Given the description of an element on the screen output the (x, y) to click on. 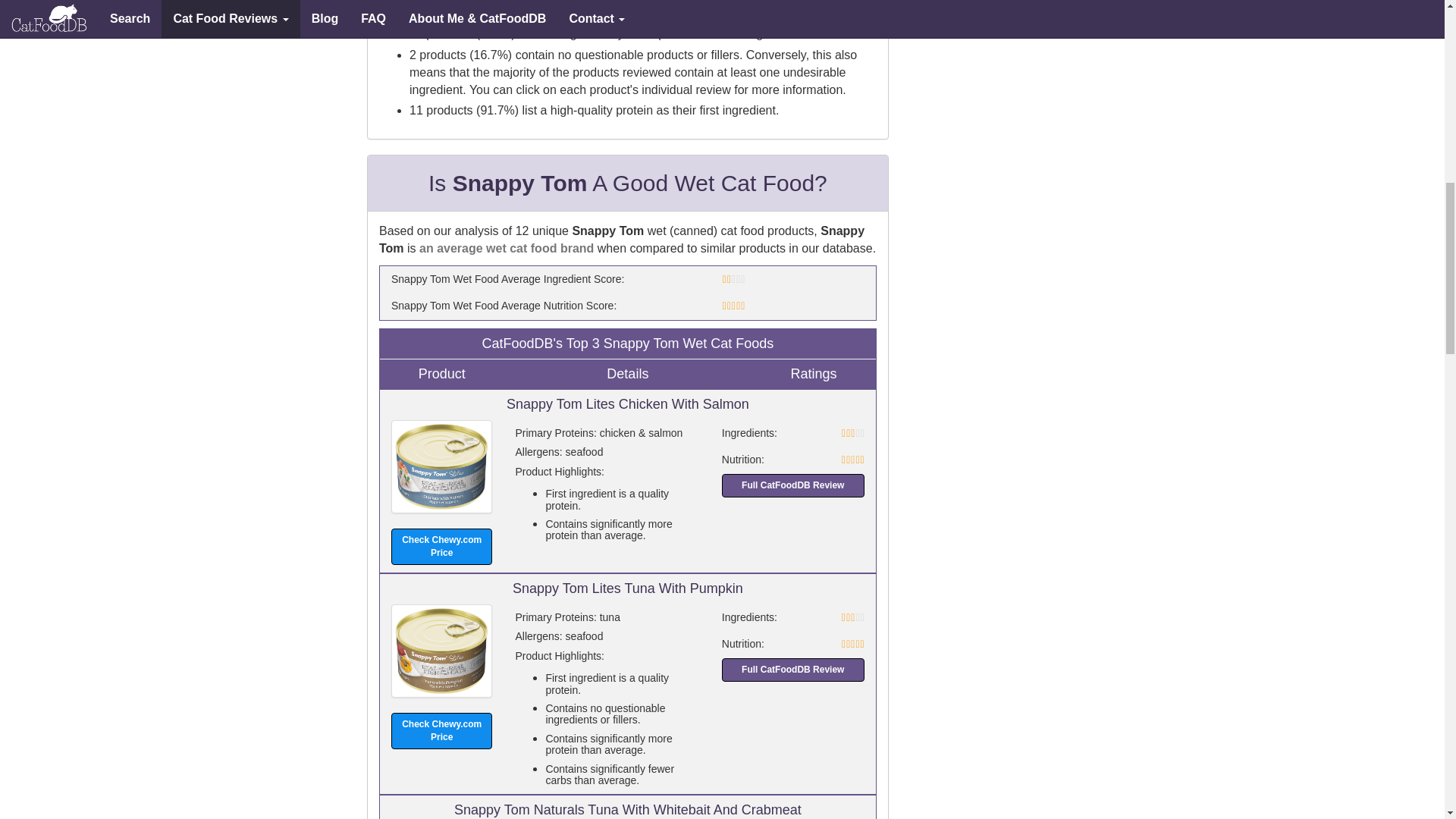
Snappy Tom Lites Tuna With Pumpkin (441, 650)
Snappy Tom Lites Chicken With Salmon (441, 466)
